Given the description of an element on the screen output the (x, y) to click on. 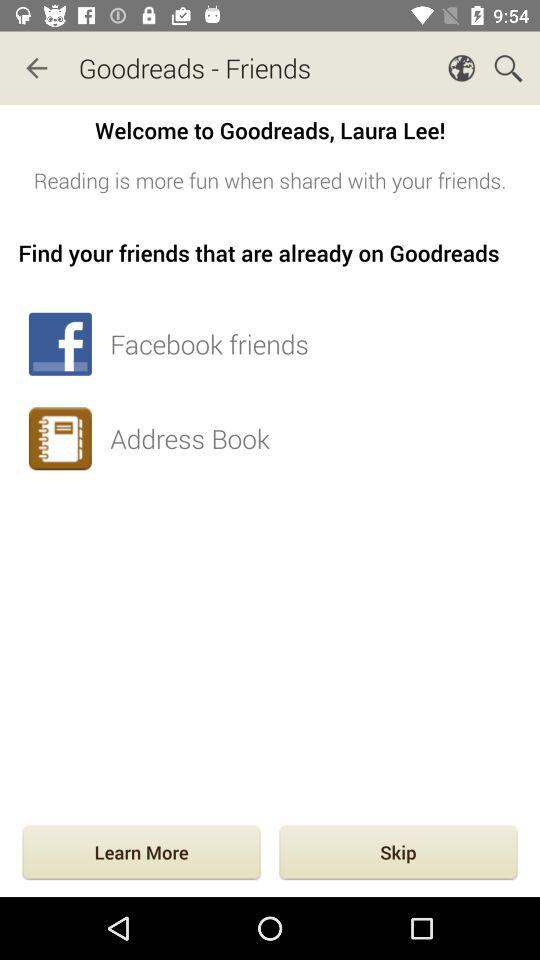
open icon next to goodreads - friends (36, 68)
